Given the description of an element on the screen output the (x, y) to click on. 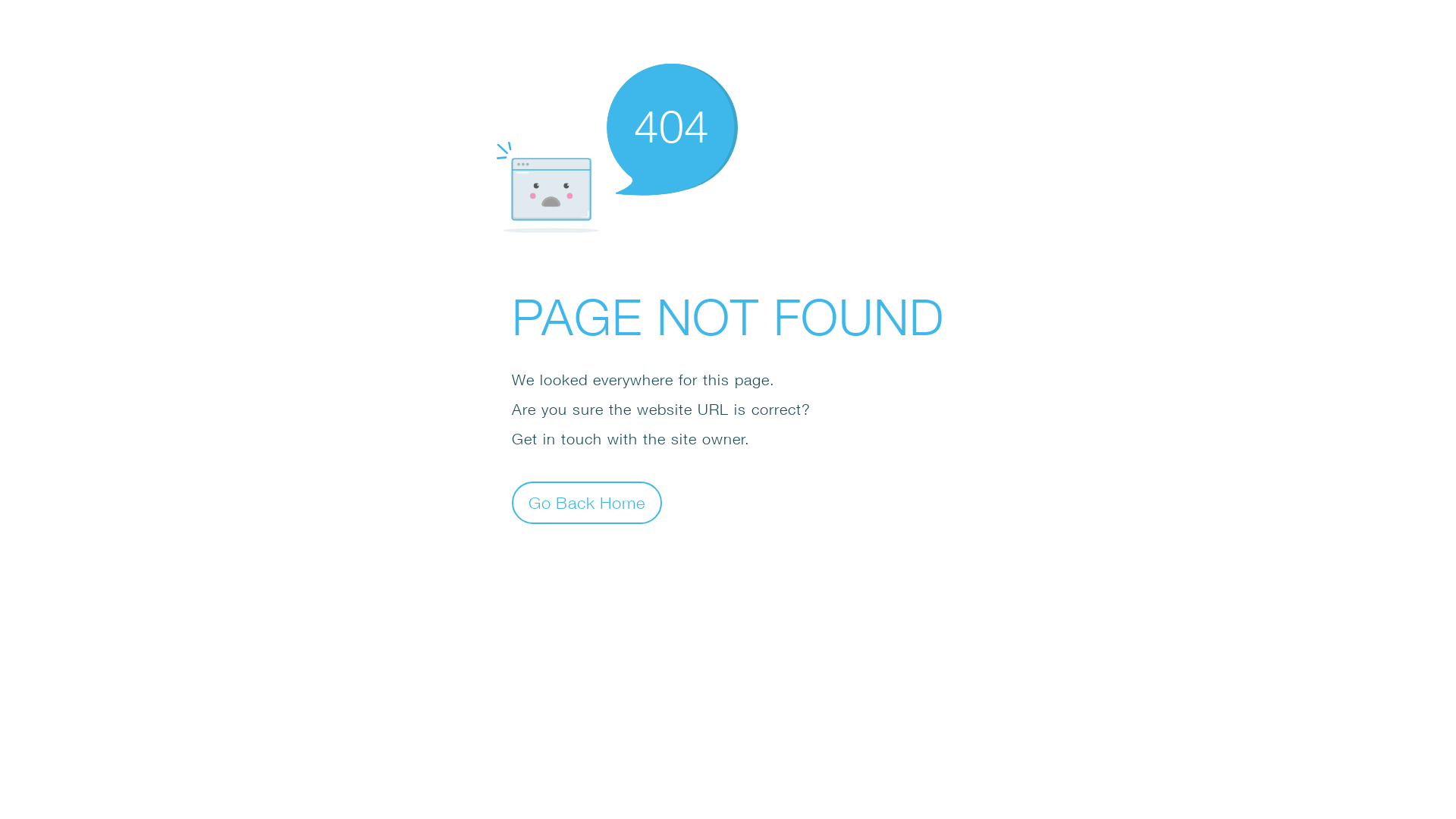
Go Back Home Element type: text (586, 502)
